Given the description of an element on the screen output the (x, y) to click on. 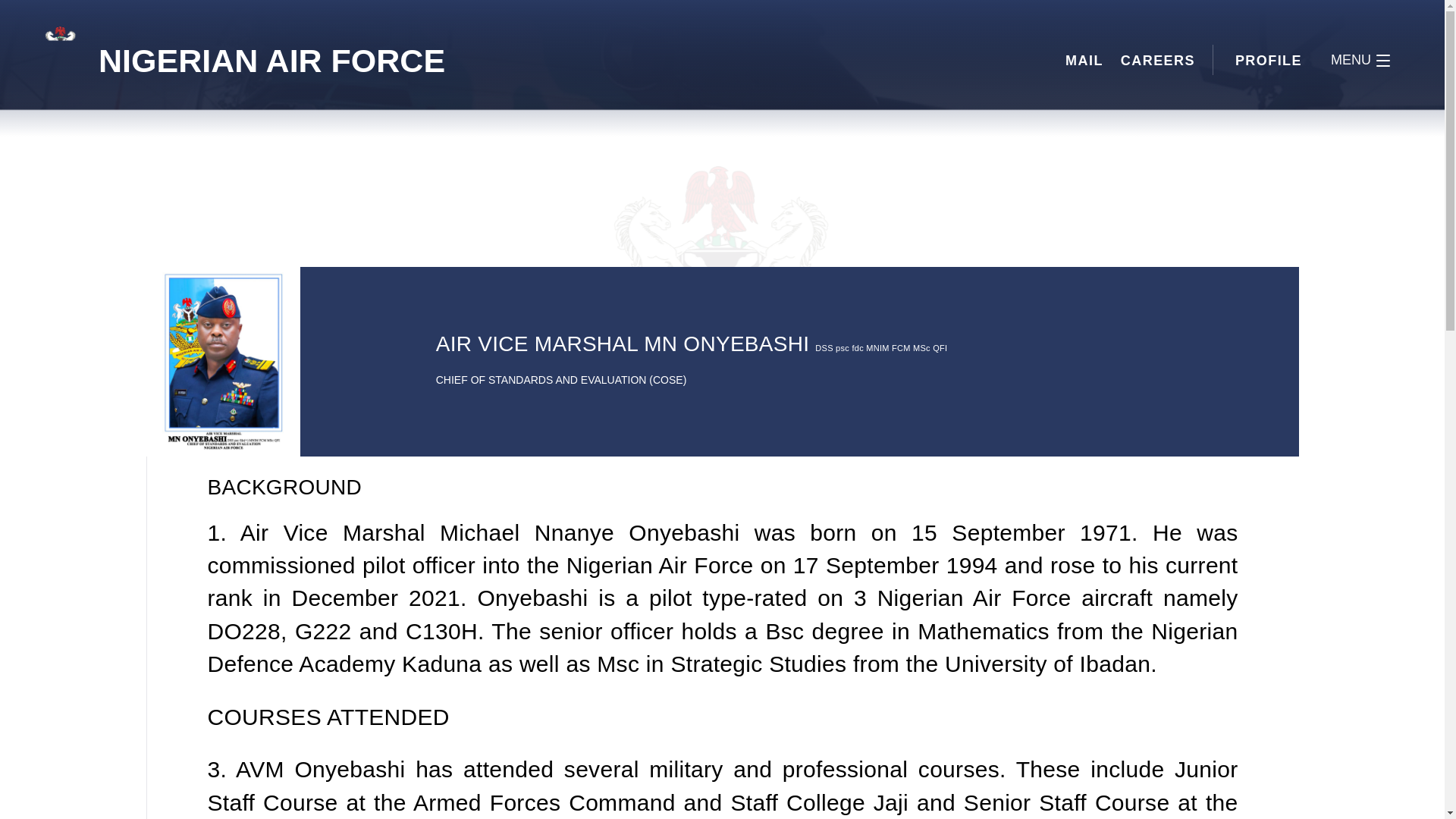
MAIL (1084, 60)
CAREERS (1158, 60)
NIGERIAN AIR FORCE (64, 60)
